Given the description of an element on the screen output the (x, y) to click on. 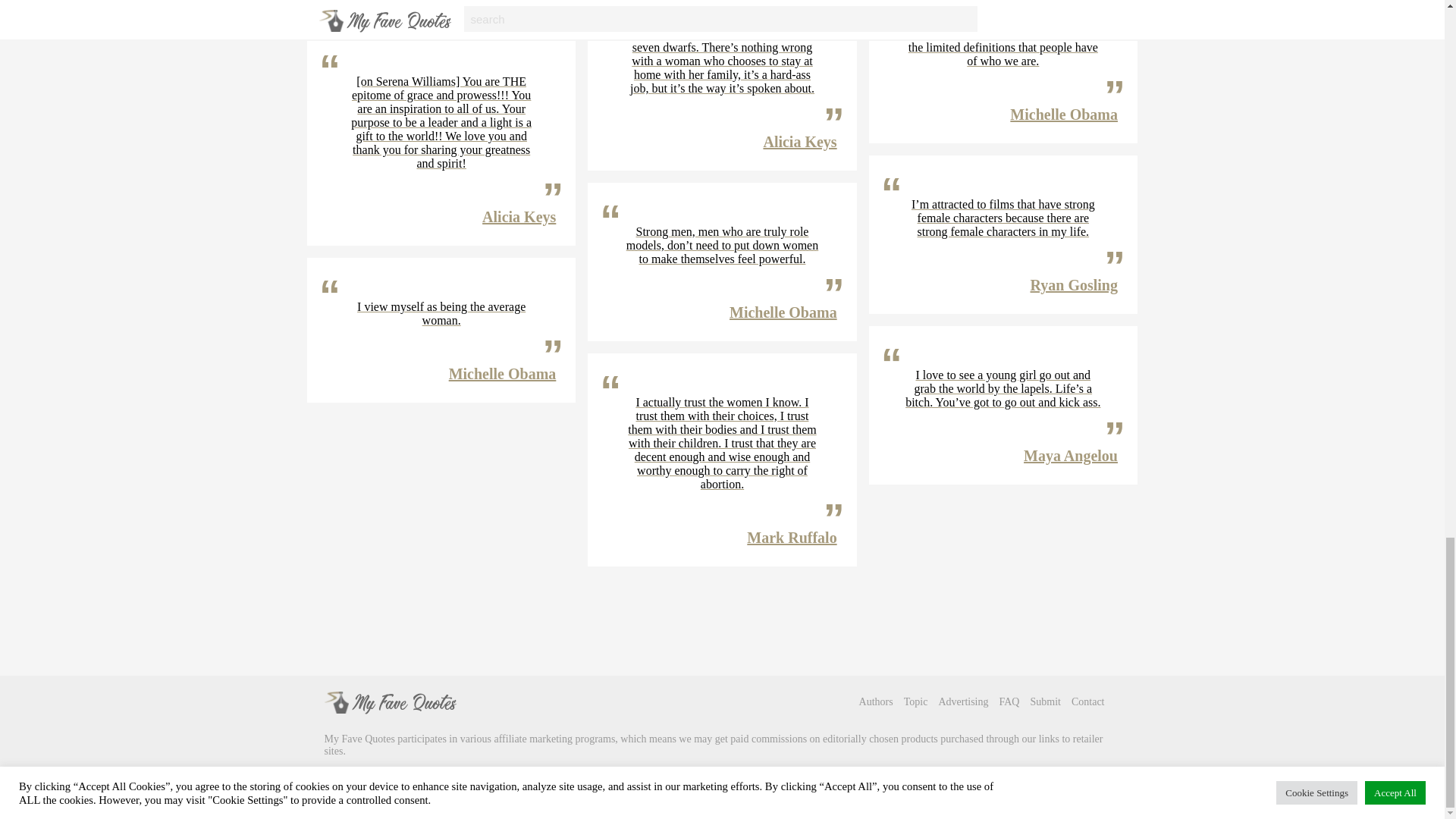
Alicia Keys (518, 216)
